Given the description of an element on the screen output the (x, y) to click on. 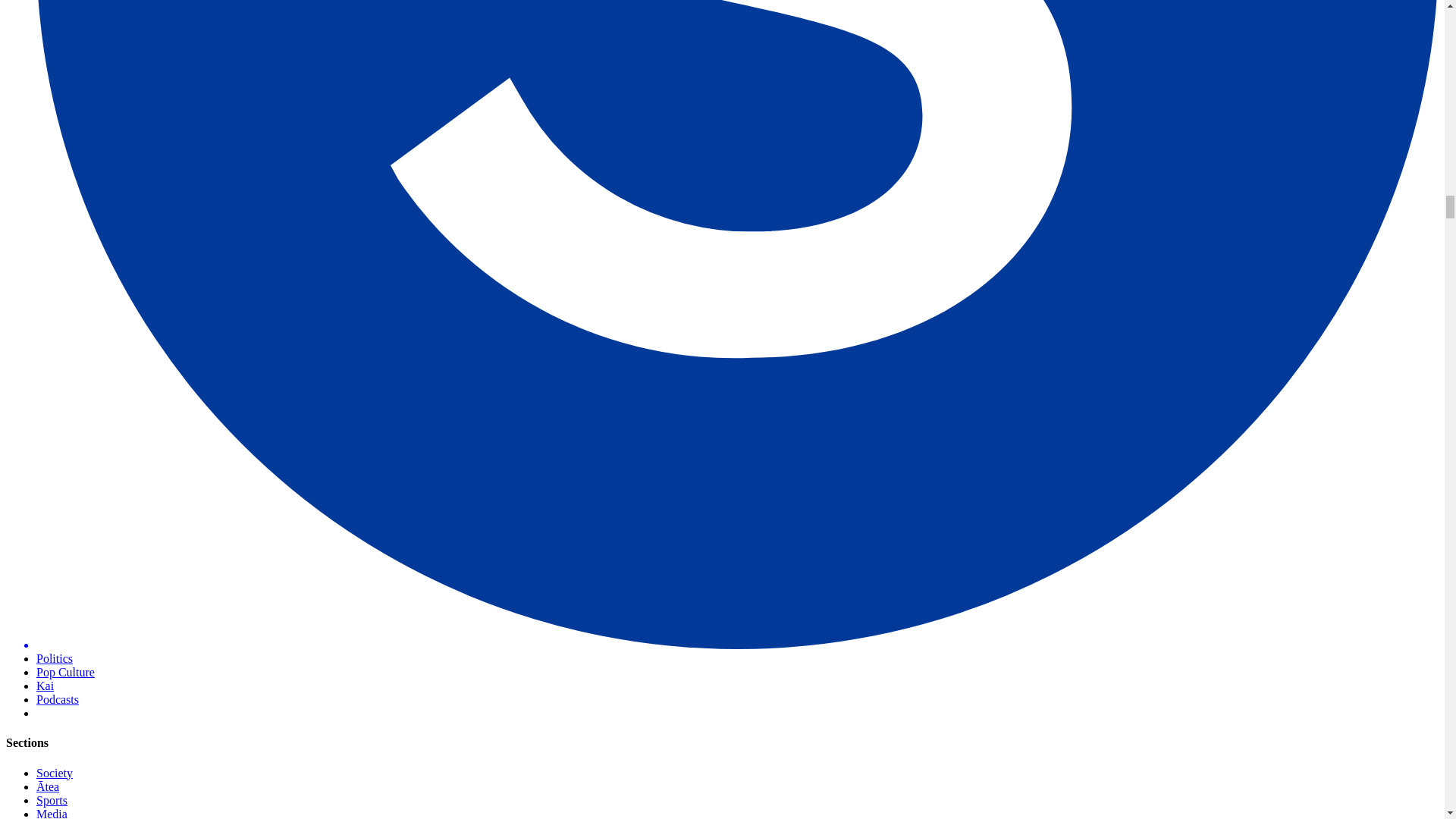
Media (51, 813)
Sports (51, 799)
Politics (54, 658)
Society (54, 772)
Kai (44, 685)
Pop Culture (65, 671)
Podcasts (57, 698)
